Given the description of an element on the screen output the (x, y) to click on. 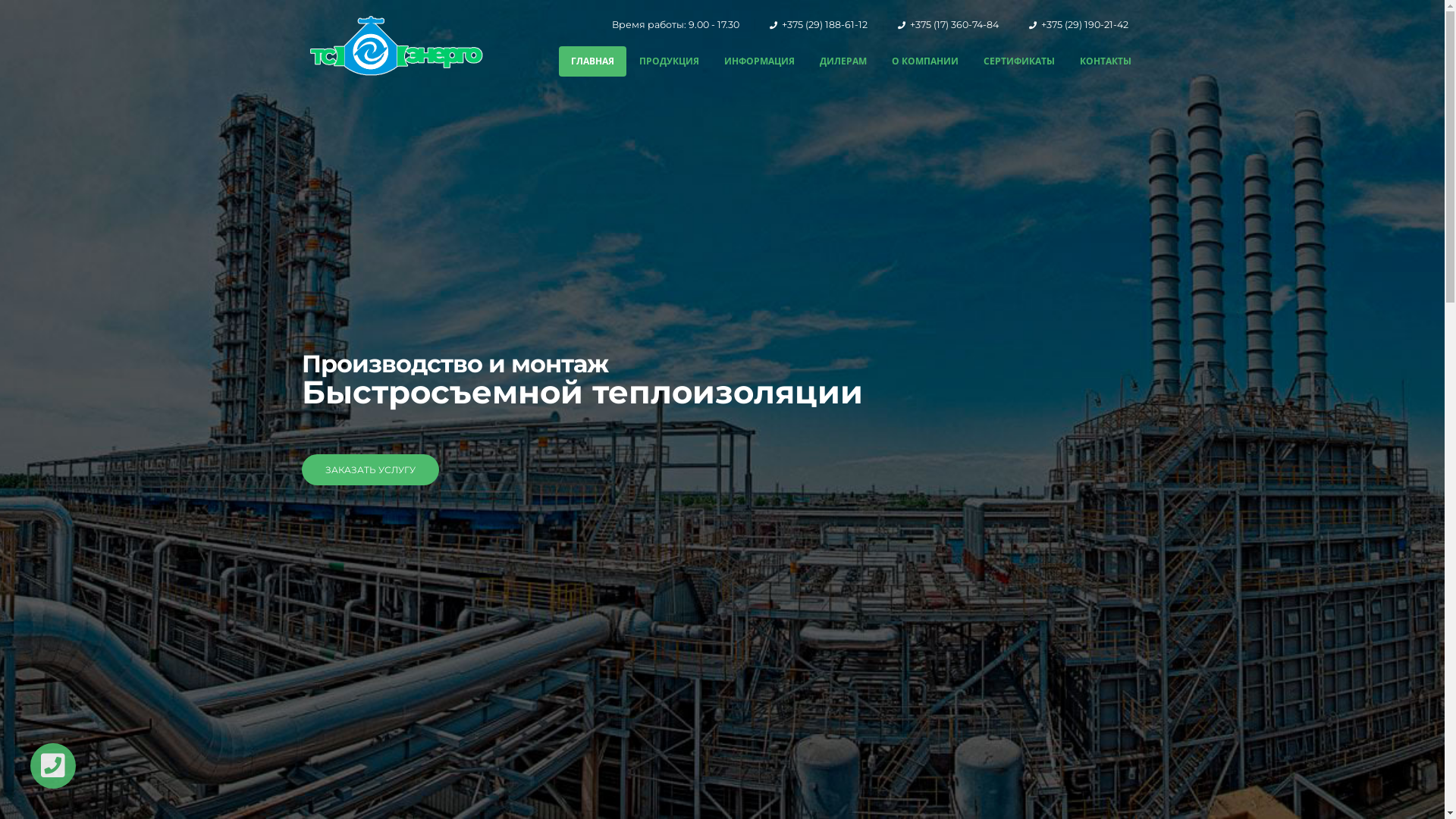
+375 (29) 190-21-42 Element type: text (1083, 24)
+375 (17) 360-74-84 Element type: text (954, 24)
+375 (29) 188-61-12 Element type: text (823, 24)
